Given the description of an element on the screen output the (x, y) to click on. 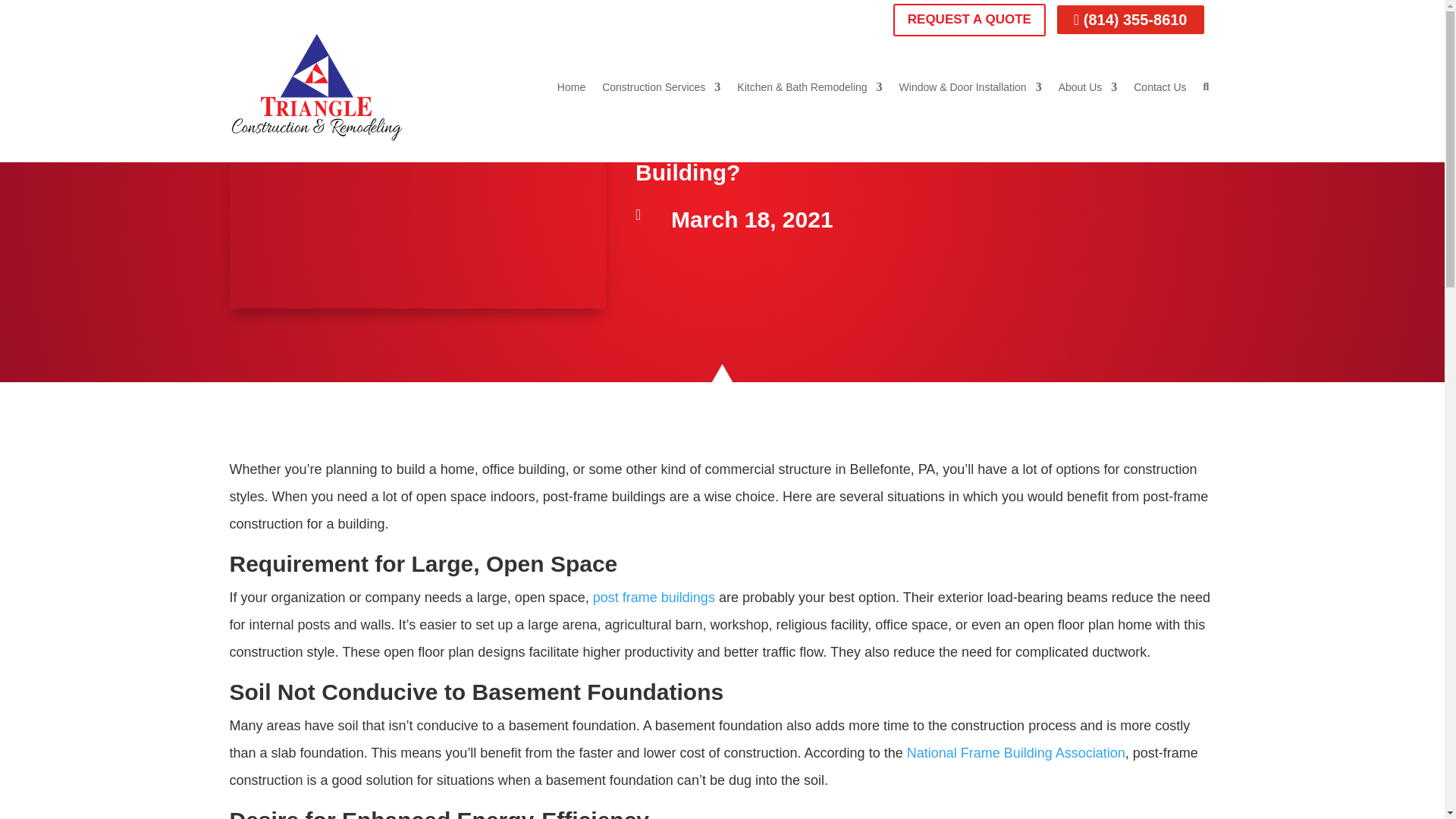
REQUEST A QUOTE (969, 20)
Construction Services (661, 86)
post-frame buildings inn Bellefonte, PA (416, 190)
post frame buildings (653, 597)
National Frame Building Association (1016, 752)
